Given the description of an element on the screen output the (x, y) to click on. 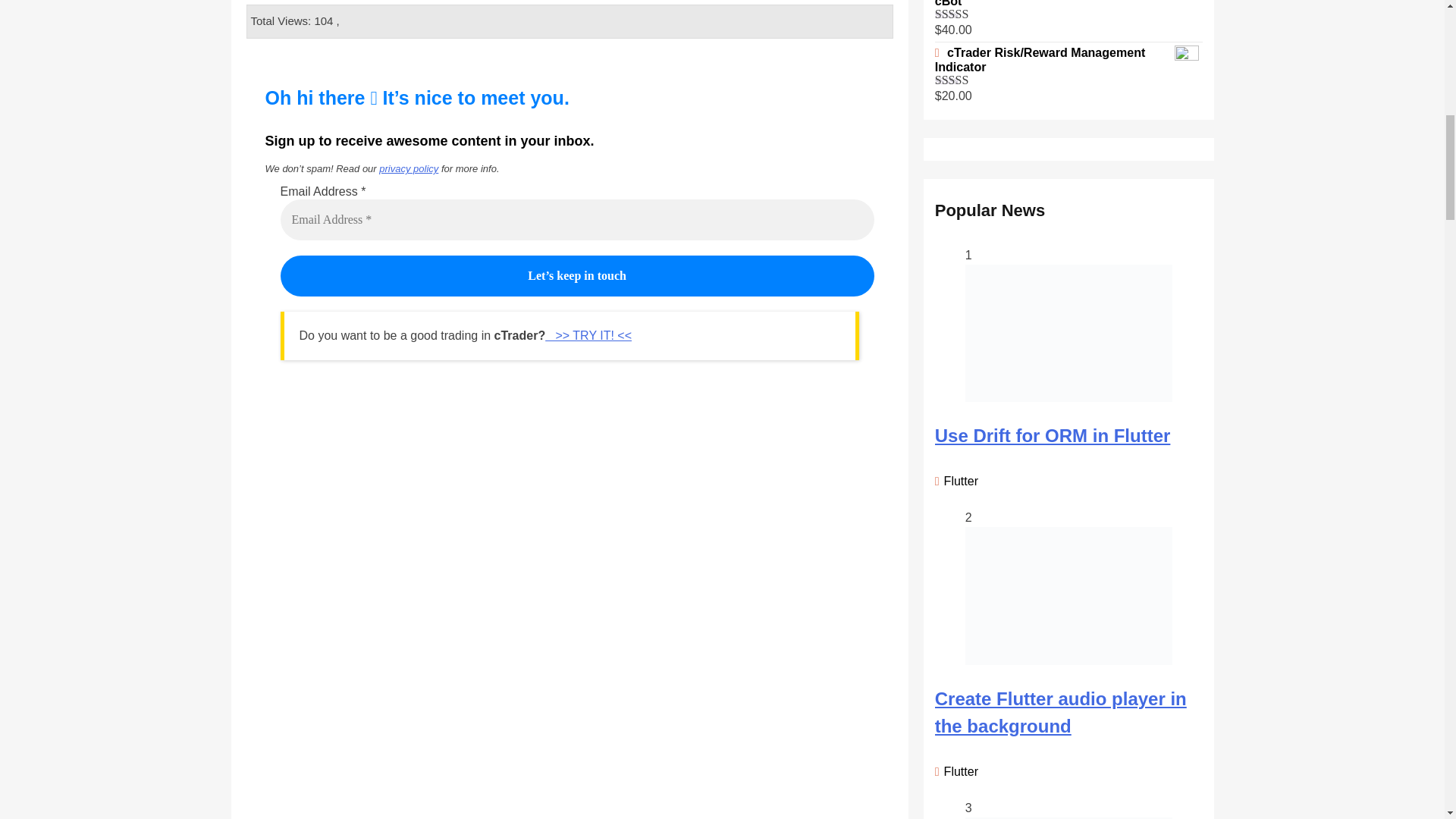
Flutter (957, 771)
Flutter (957, 480)
privacy policy (408, 168)
Use Drift for ORM in Flutter (1052, 435)
Create Flutter audio player in the background (1060, 712)
Email Address (578, 219)
